Given the description of an element on the screen output the (x, y) to click on. 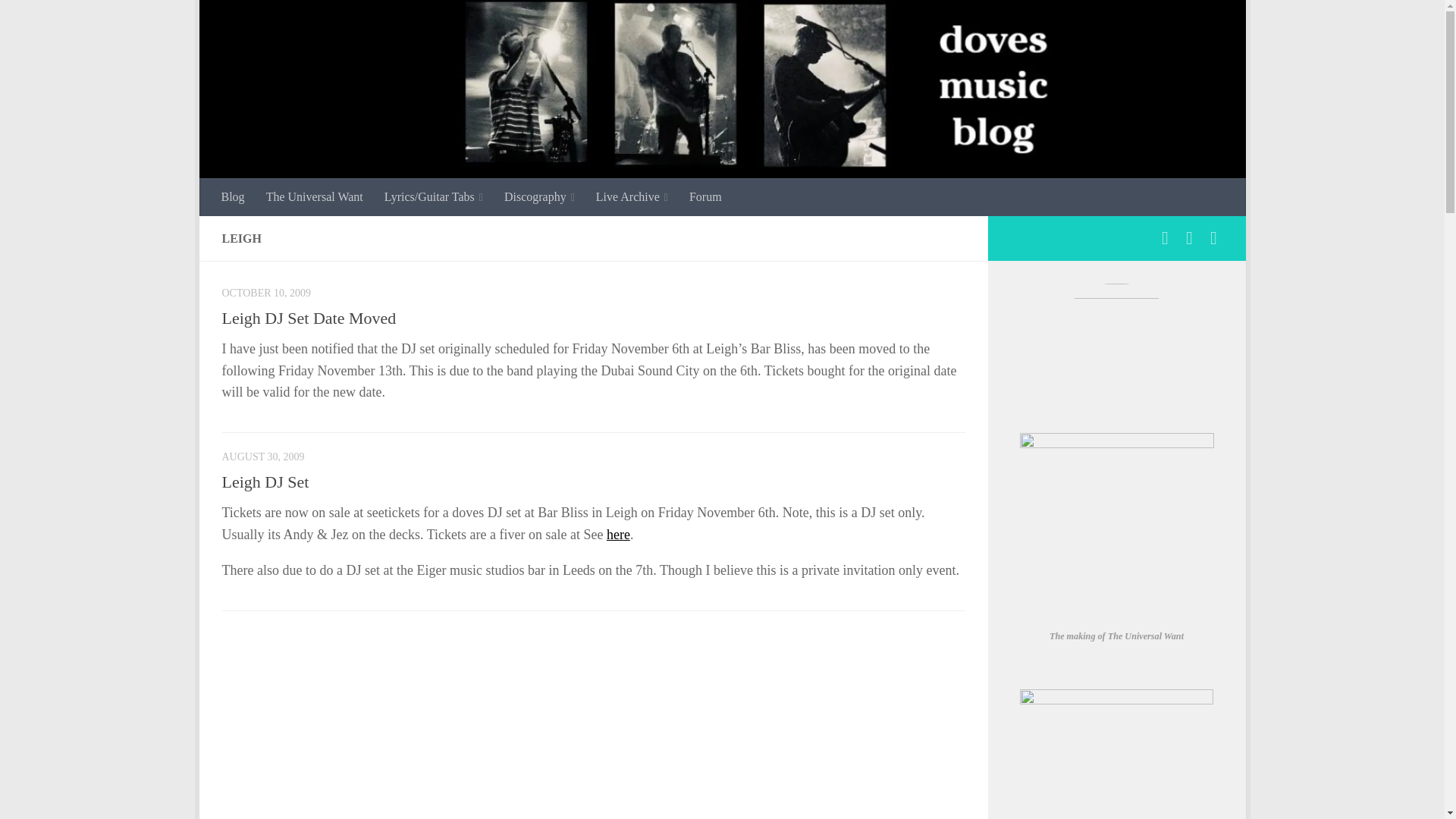
Skip to content (258, 20)
Blog (233, 197)
The Universal Want (315, 197)
Follow us on Instagram (1188, 238)
Follow us on Twitter (1213, 238)
